Given the description of an element on the screen output the (x, y) to click on. 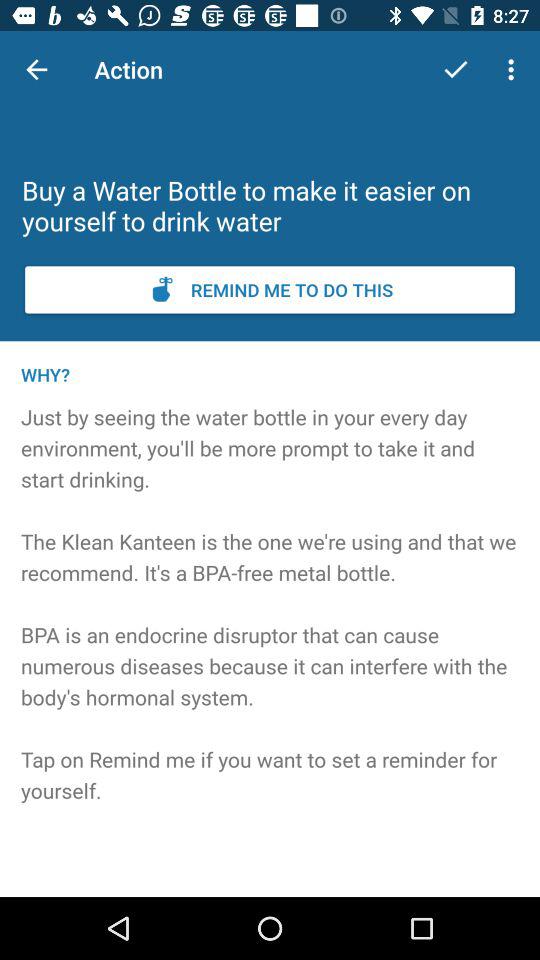
set reminder (269, 289)
